Given the description of an element on the screen output the (x, y) to click on. 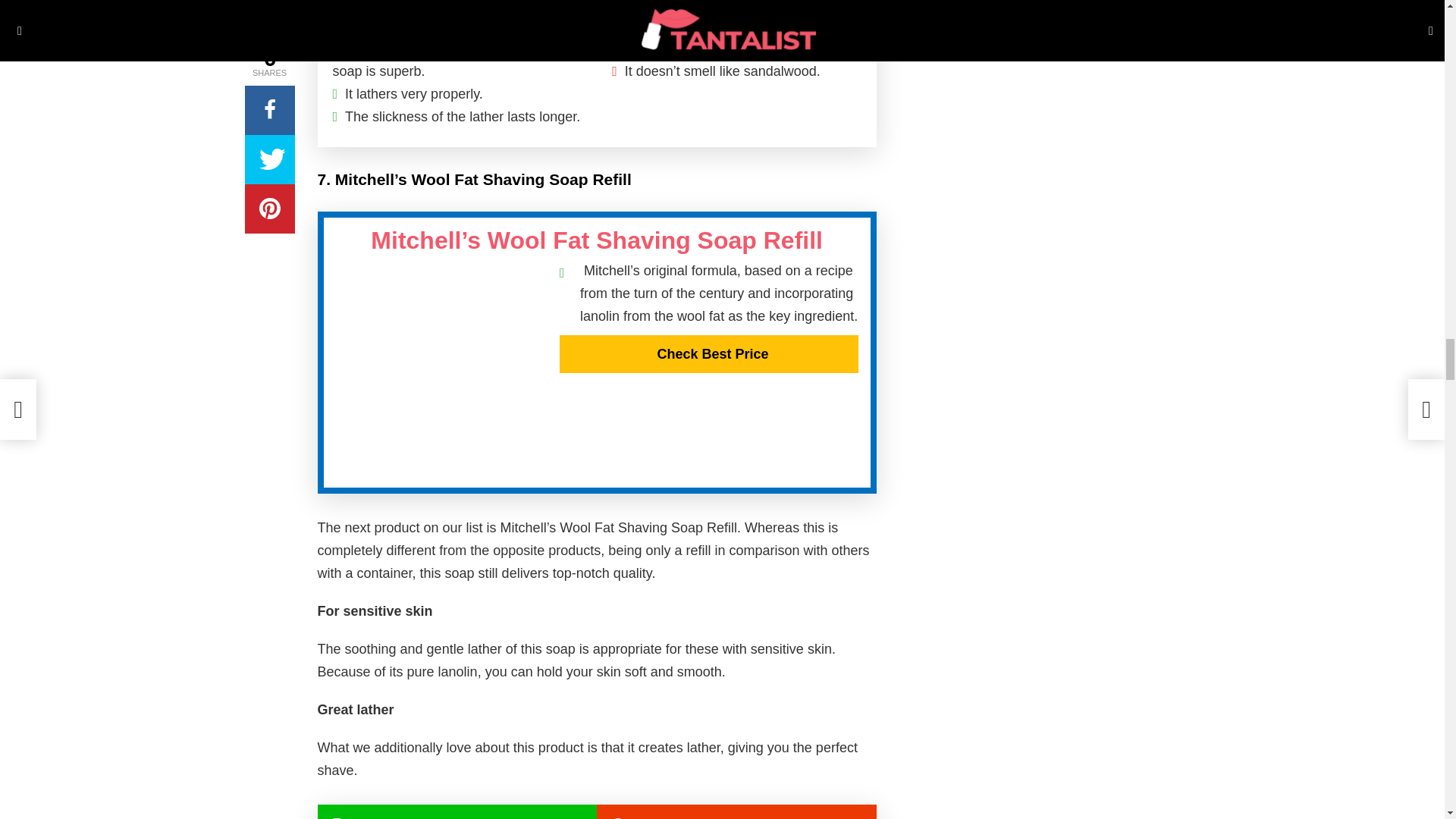
Check Best Price (709, 353)
